Given the description of an element on the screen output the (x, y) to click on. 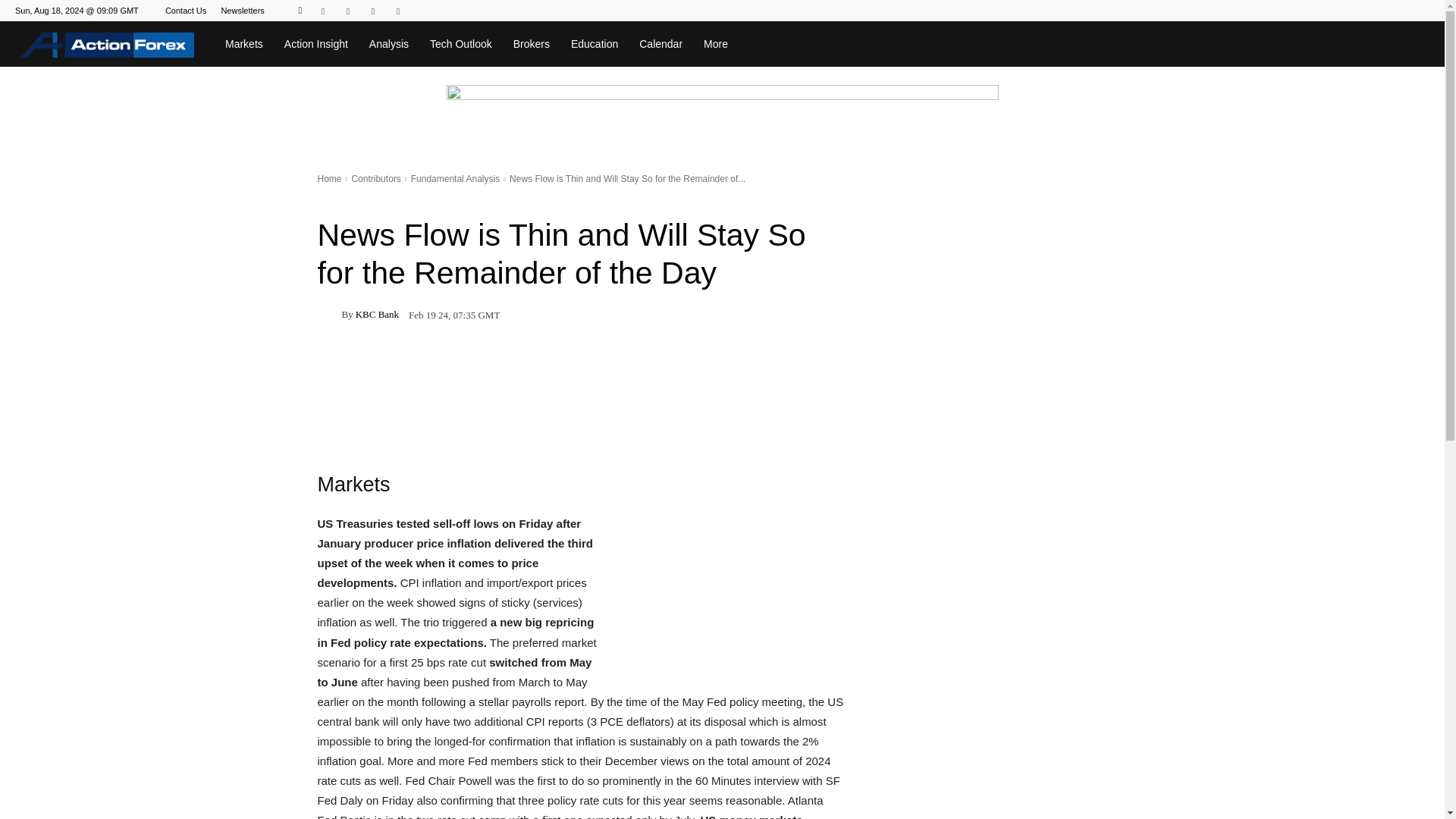
Action Forex (106, 44)
Facebook (322, 10)
RSS (372, 10)
Mail (347, 10)
Twitter (398, 10)
